Given the description of an element on the screen output the (x, y) to click on. 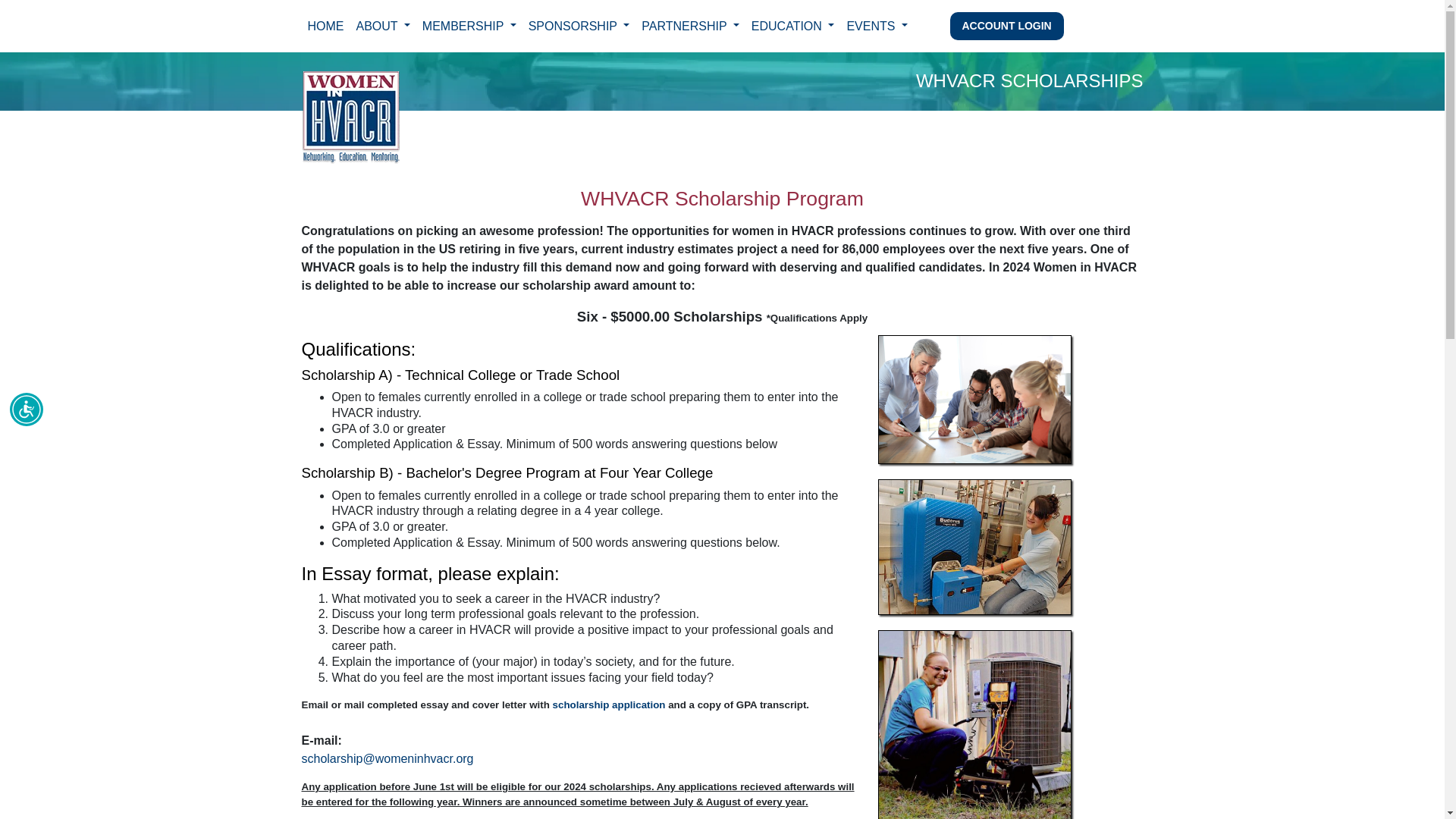
ACCOUNT LOGIN (1005, 24)
ABOUT (383, 25)
HOME (325, 25)
Accessibility Menu (26, 409)
SPONSORSHIP (579, 25)
MEMBERSHIP (469, 25)
EDUCATION (793, 25)
PARTNERSHIP (689, 25)
